Given the description of an element on the screen output the (x, y) to click on. 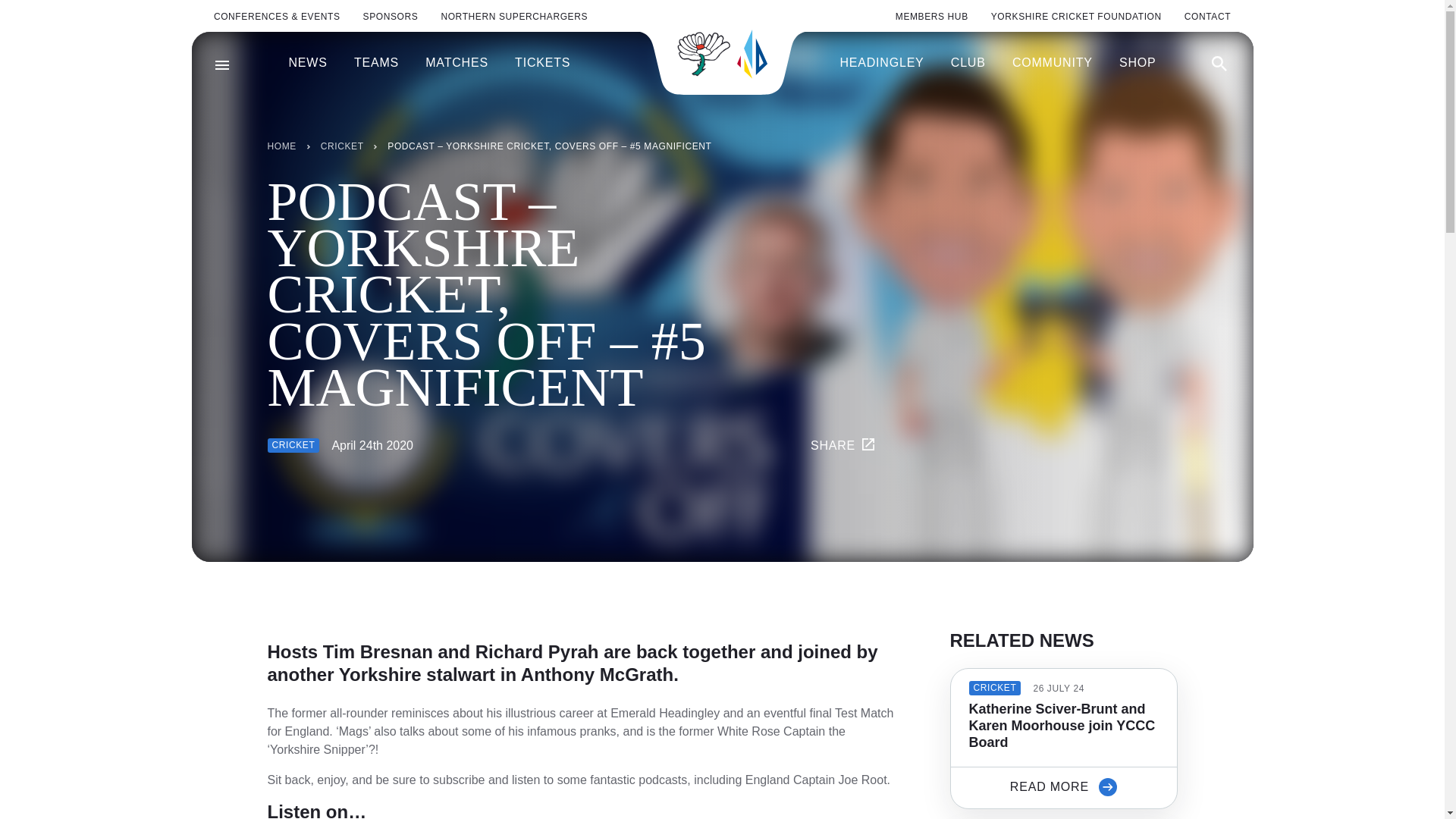
Yorkshire County Cricket Club (721, 53)
YORKSHIRE CRICKET FOUNDATION (1076, 16)
SPONSORS (390, 16)
NEWS (307, 62)
NORTHERN SUPERCHARGERS (514, 16)
TEAMS (375, 62)
TICKETS (542, 62)
MEMBERS HUB (931, 16)
HEADINGLEY (881, 62)
MATCHES (456, 62)
CONTACT (1207, 16)
